Given the description of an element on the screen output the (x, y) to click on. 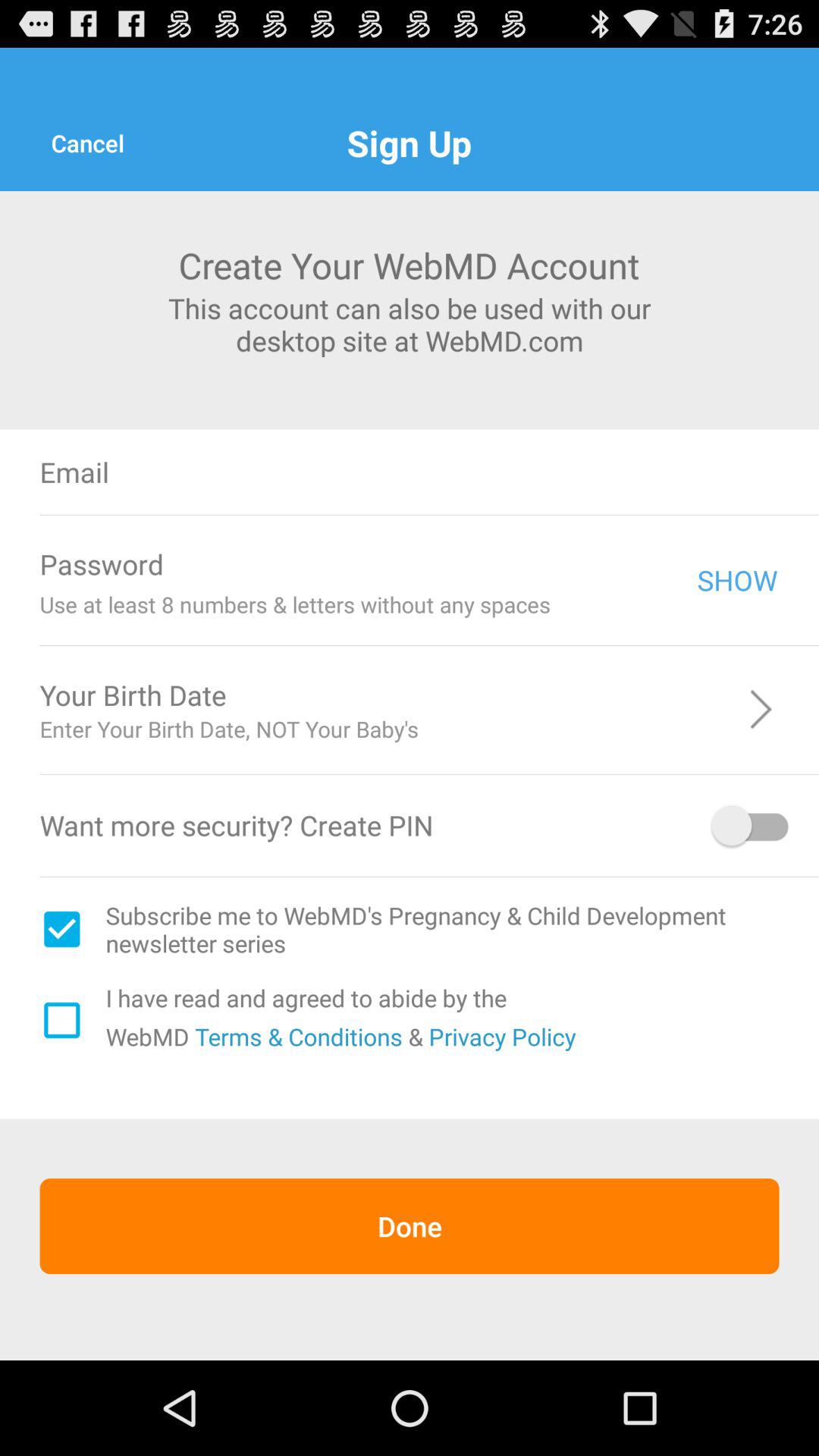
type in email (507, 471)
